Given the description of an element on the screen output the (x, y) to click on. 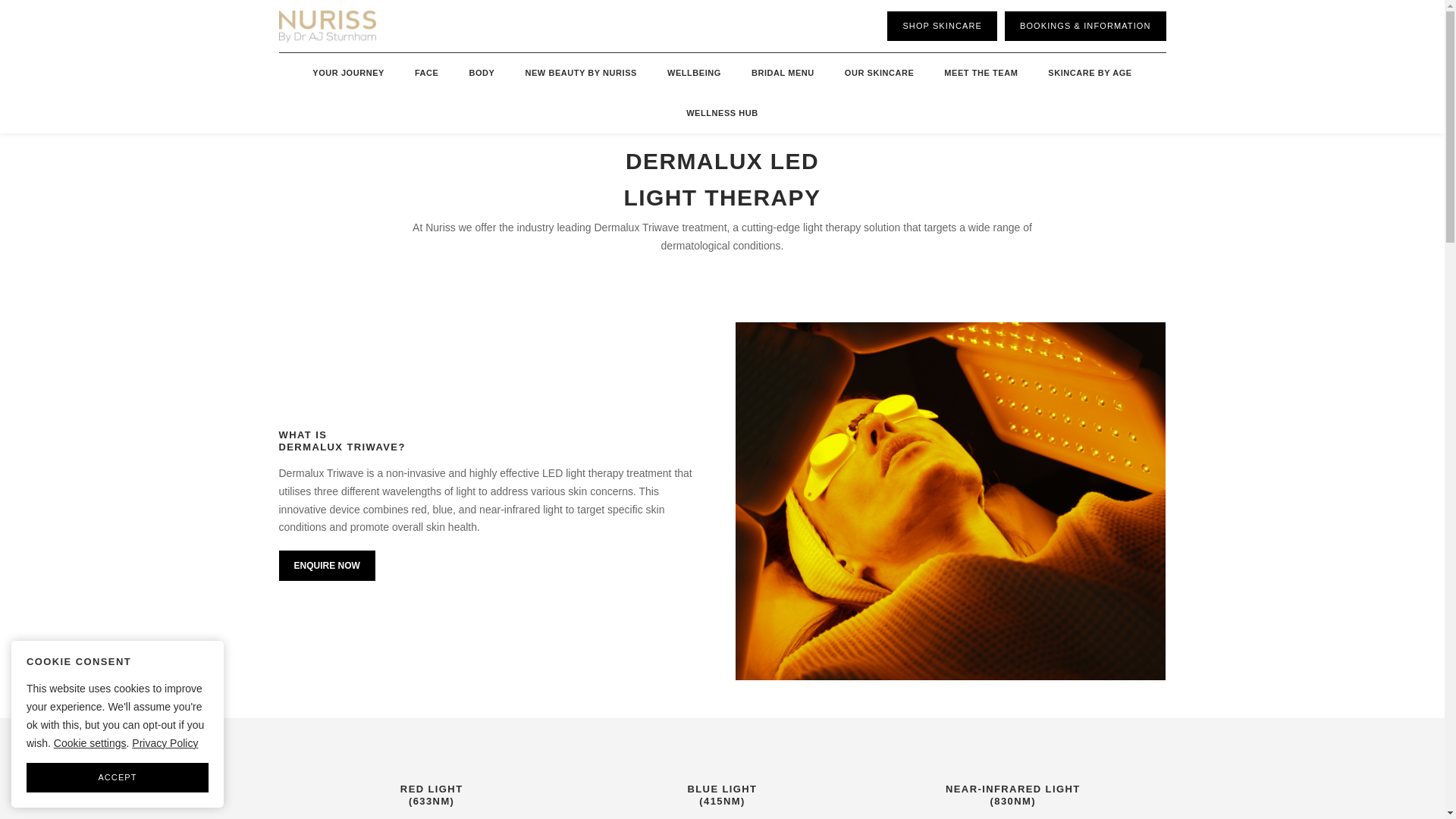
FACE (426, 73)
BODY (480, 73)
YOUR JOURNEY (347, 73)
SHOP SKINCARE (941, 25)
